Given the description of an element on the screen output the (x, y) to click on. 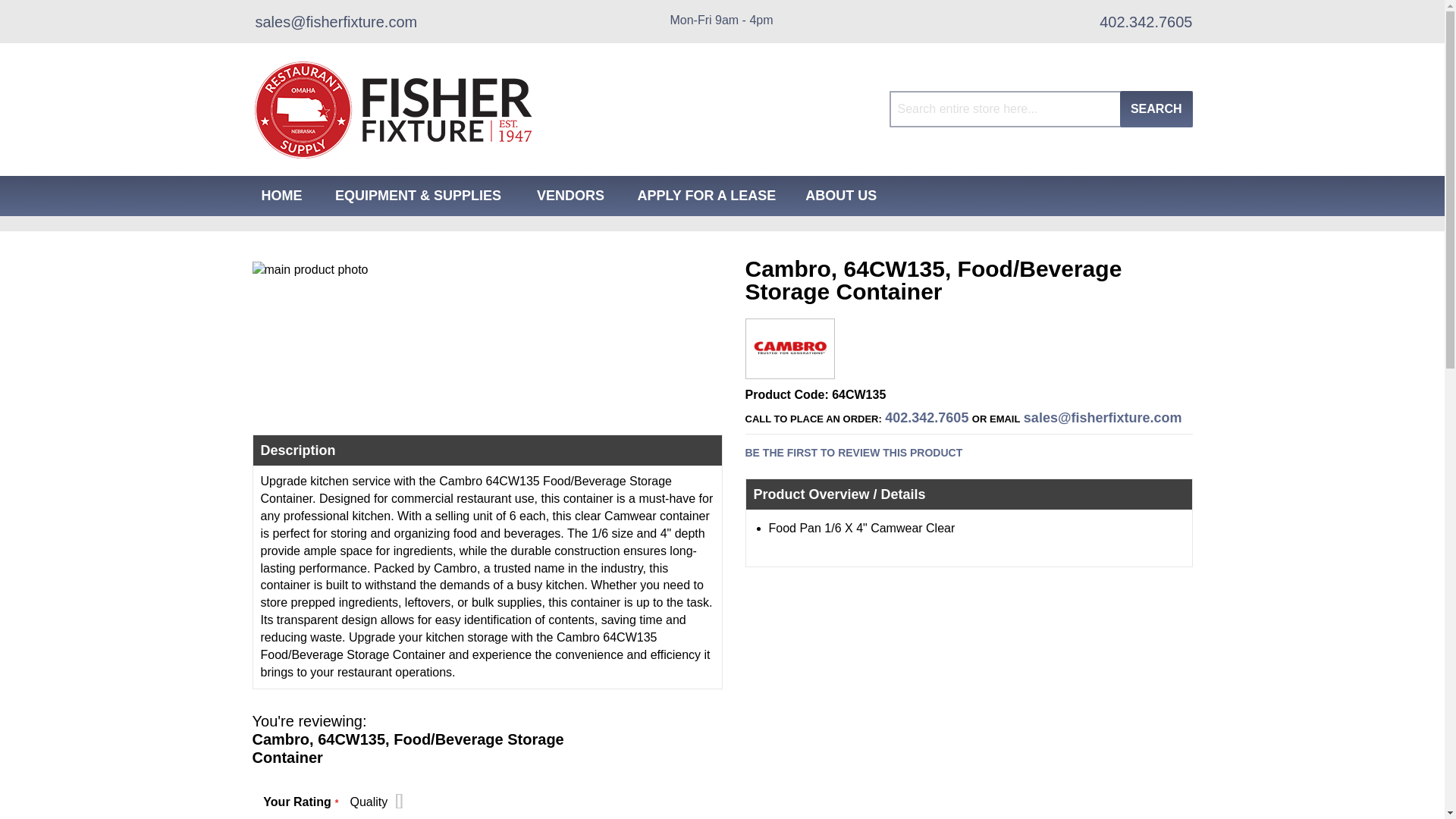
Search (1155, 108)
HOME (281, 196)
Fisher Fixture Restaurant Supply  (392, 109)
SEARCH (1155, 108)
Cambro (790, 366)
